Given the description of an element on the screen output the (x, y) to click on. 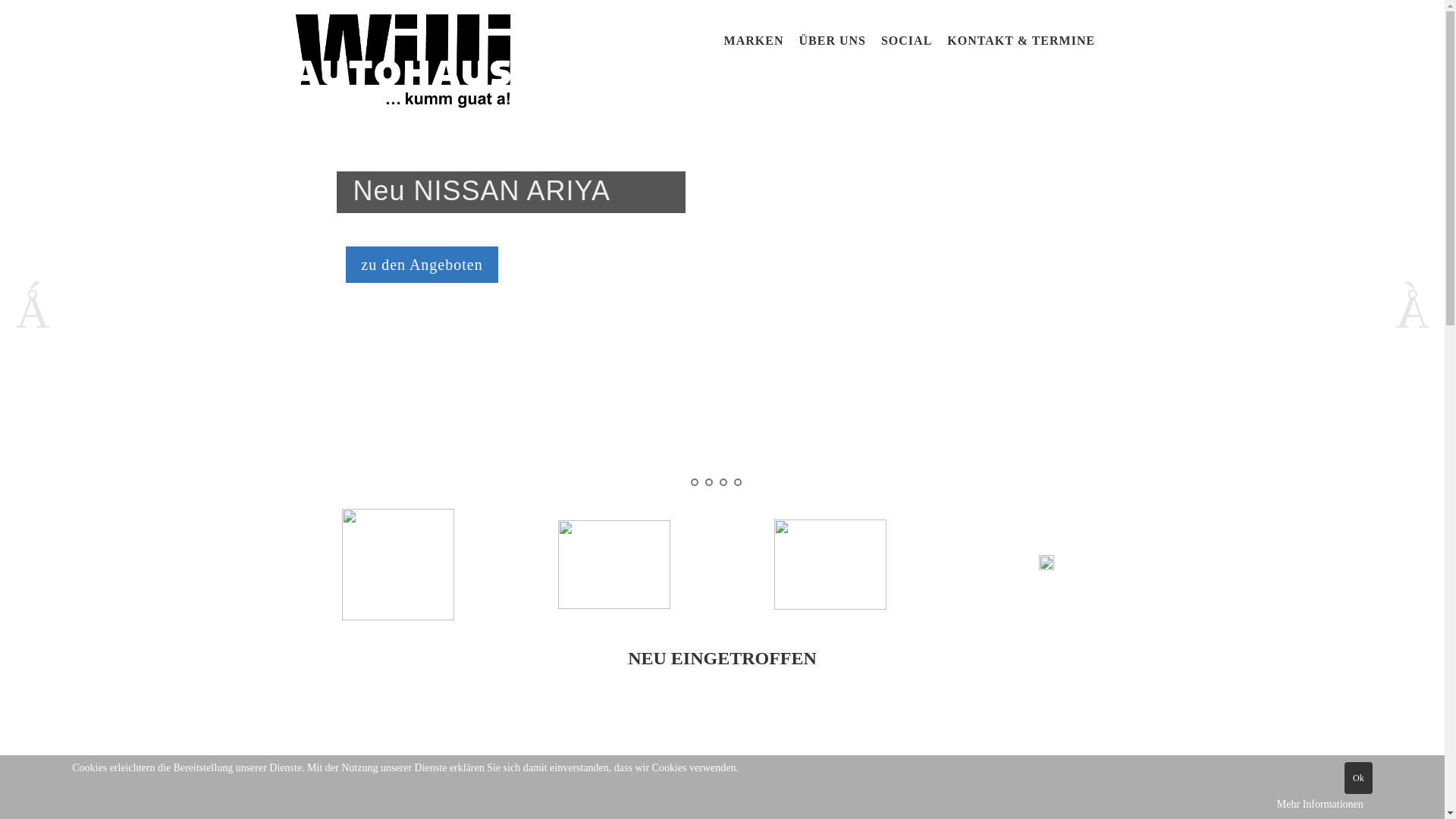
Mehr Informationen Element type: text (1320, 804)
MARKEN Element type: text (754, 41)
mehr dazu Element type: text (340, 257)
SOCIAL Element type: text (906, 41)
Ok Element type: text (1358, 777)
KONTAKT & TERMINE Element type: text (1021, 41)
